Given the description of an element on the screen output the (x, y) to click on. 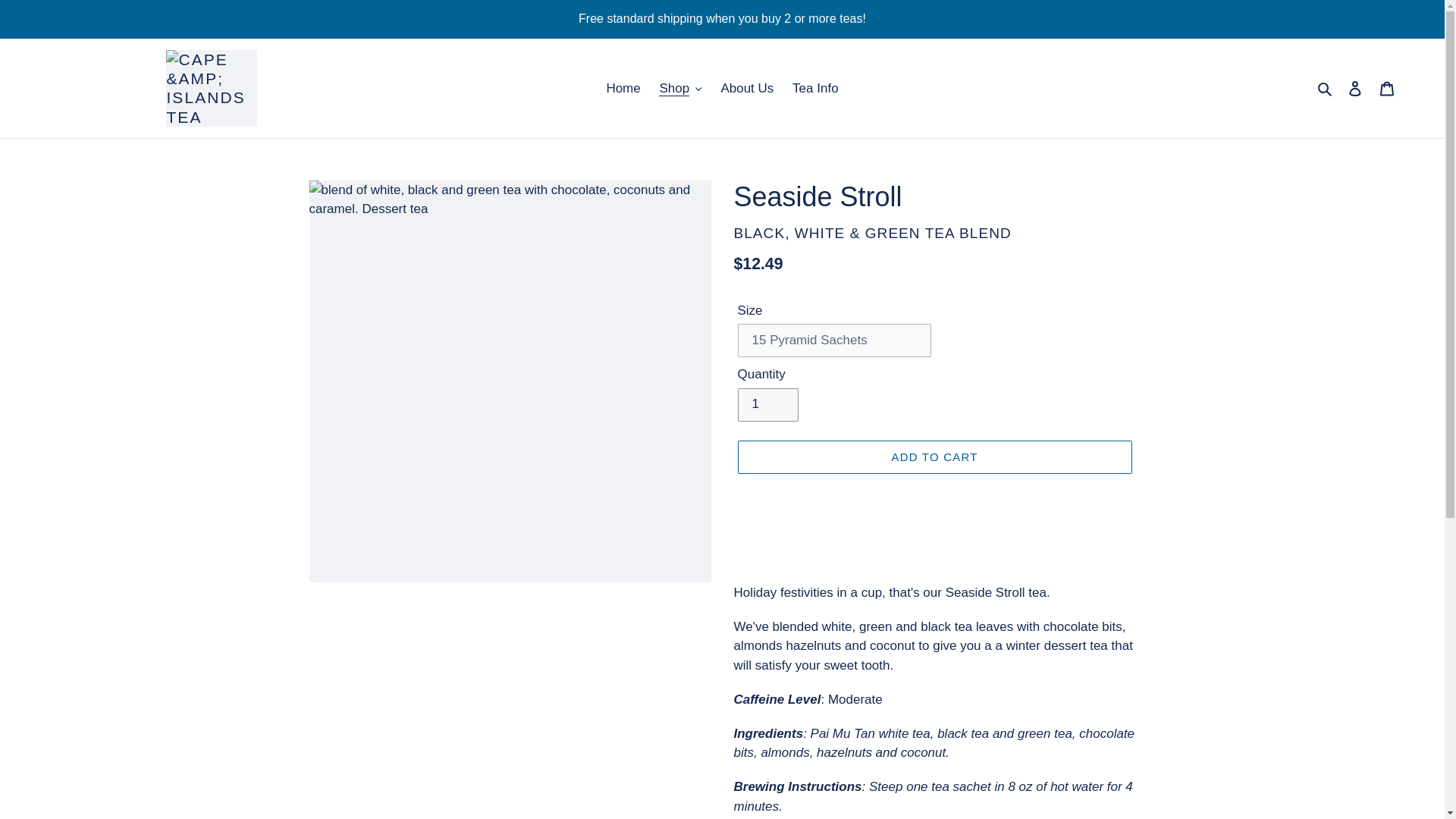
Log in (1355, 88)
Search (1326, 88)
Home (622, 88)
Tea Info (814, 88)
About Us (746, 88)
Cart (1387, 88)
Shop (679, 88)
1 (766, 404)
